Given the description of an element on the screen output the (x, y) to click on. 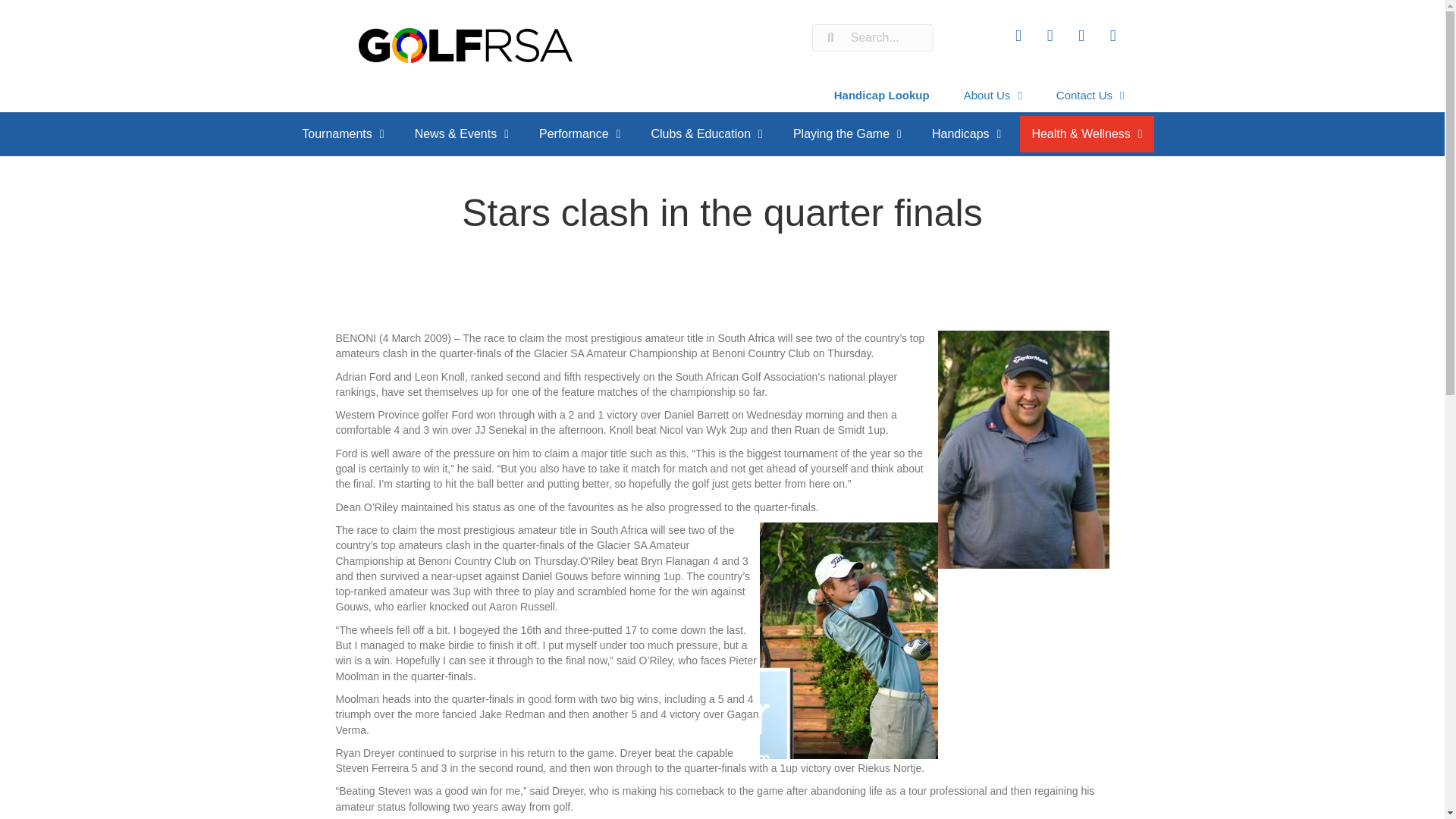
1 GOLF RSA primary logo on white (465, 45)
Handicap Lookup (882, 94)
Tournaments (341, 134)
Contact Us (1090, 94)
About Us (992, 94)
